Given the description of an element on the screen output the (x, y) to click on. 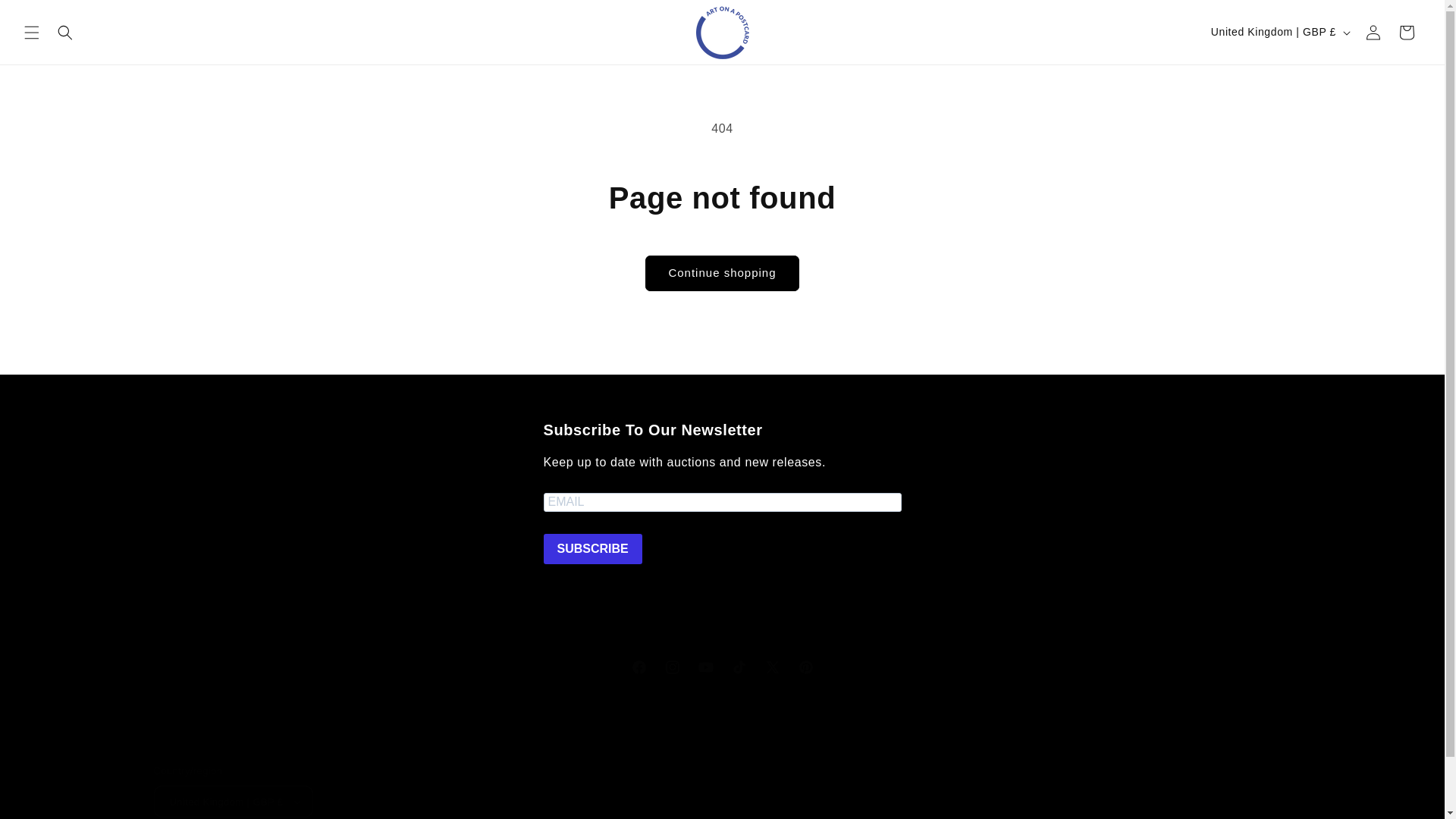
Skip to content (45, 17)
